Given the description of an element on the screen output the (x, y) to click on. 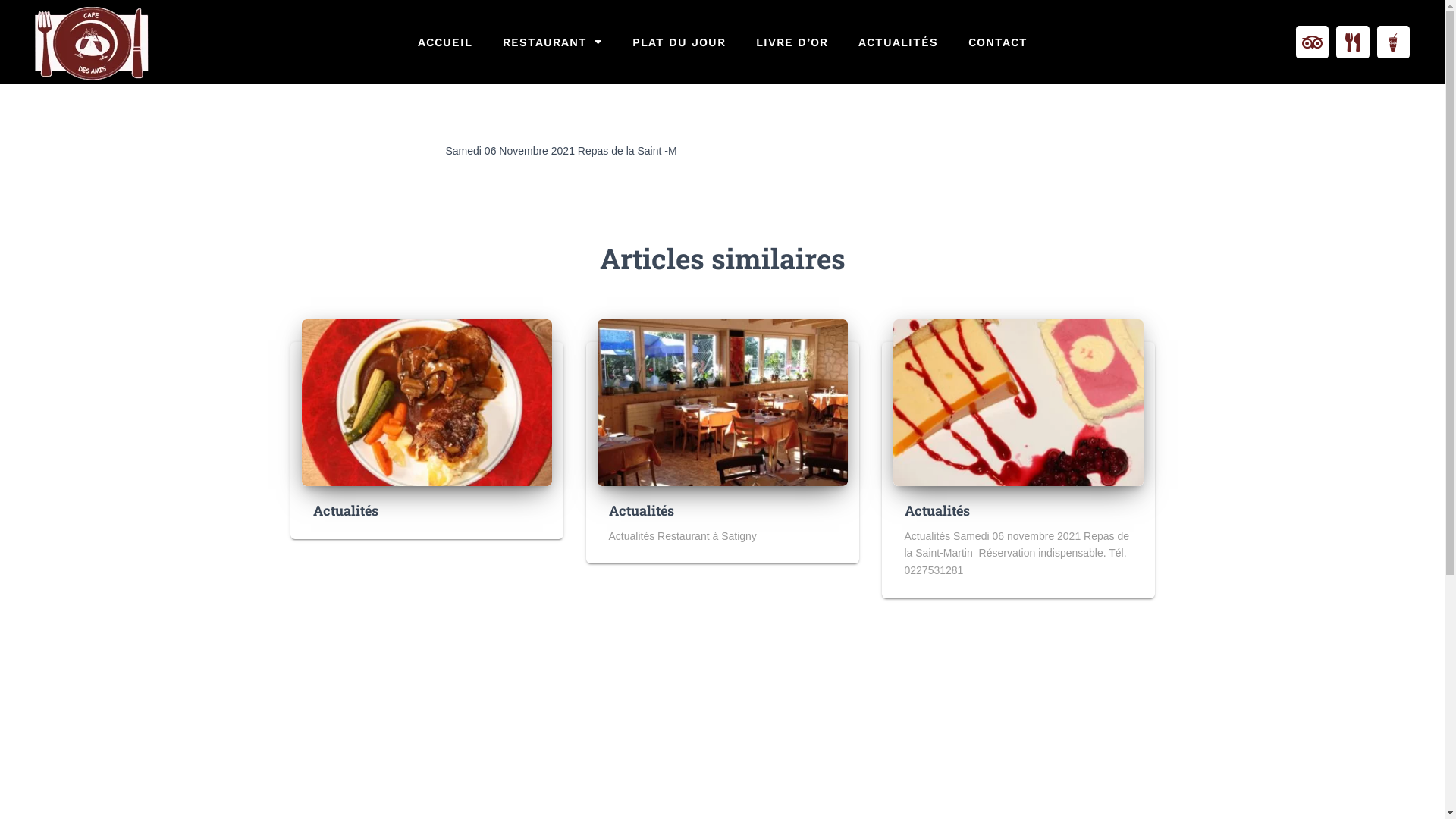
ACCUEIL Element type: text (443, 41)
PLAT DU JOUR Element type: text (678, 41)
CONTACT Element type: text (996, 41)
RESTAURANT Element type: text (551, 41)
